Given the description of an element on the screen output the (x, y) to click on. 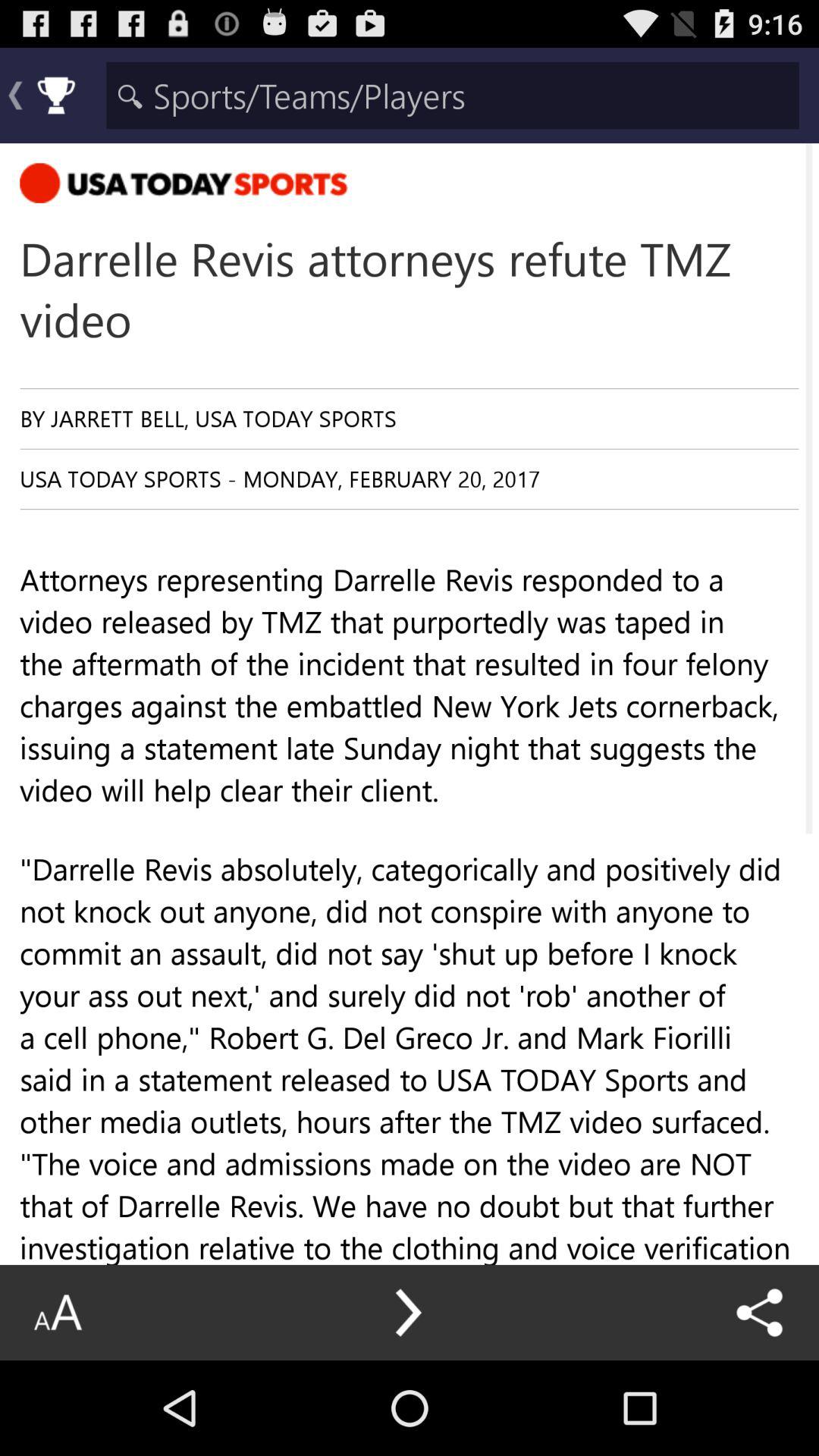
tap the icon below the attorneys representing darrelle icon (759, 1312)
